Given the description of an element on the screen output the (x, y) to click on. 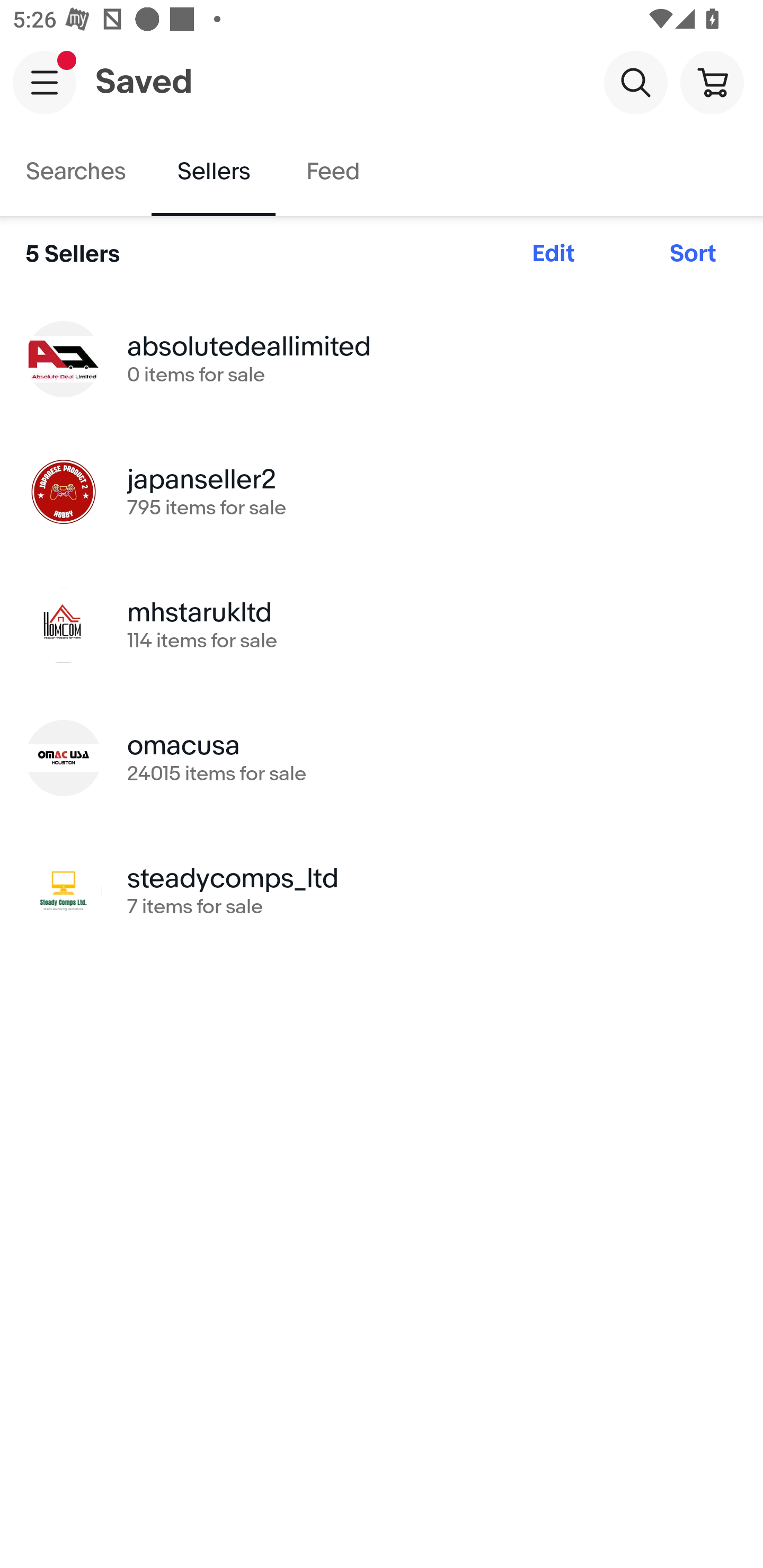
Main navigation, notification is pending, open (44, 82)
Search (635, 81)
Cart button shopping cart (711, 81)
Searches (75, 171)
Feed (332, 171)
Edit (552, 253)
Sort (693, 253)
absolutedeallimited 0 items for sale (381, 357)
japanseller2 795 items for sale (381, 491)
mhstarukltd 114 items for sale (381, 624)
omacusa 24015 items for sale (381, 757)
steadycomps_ltd 7 items for sale (381, 890)
